Given the description of an element on the screen output the (x, y) to click on. 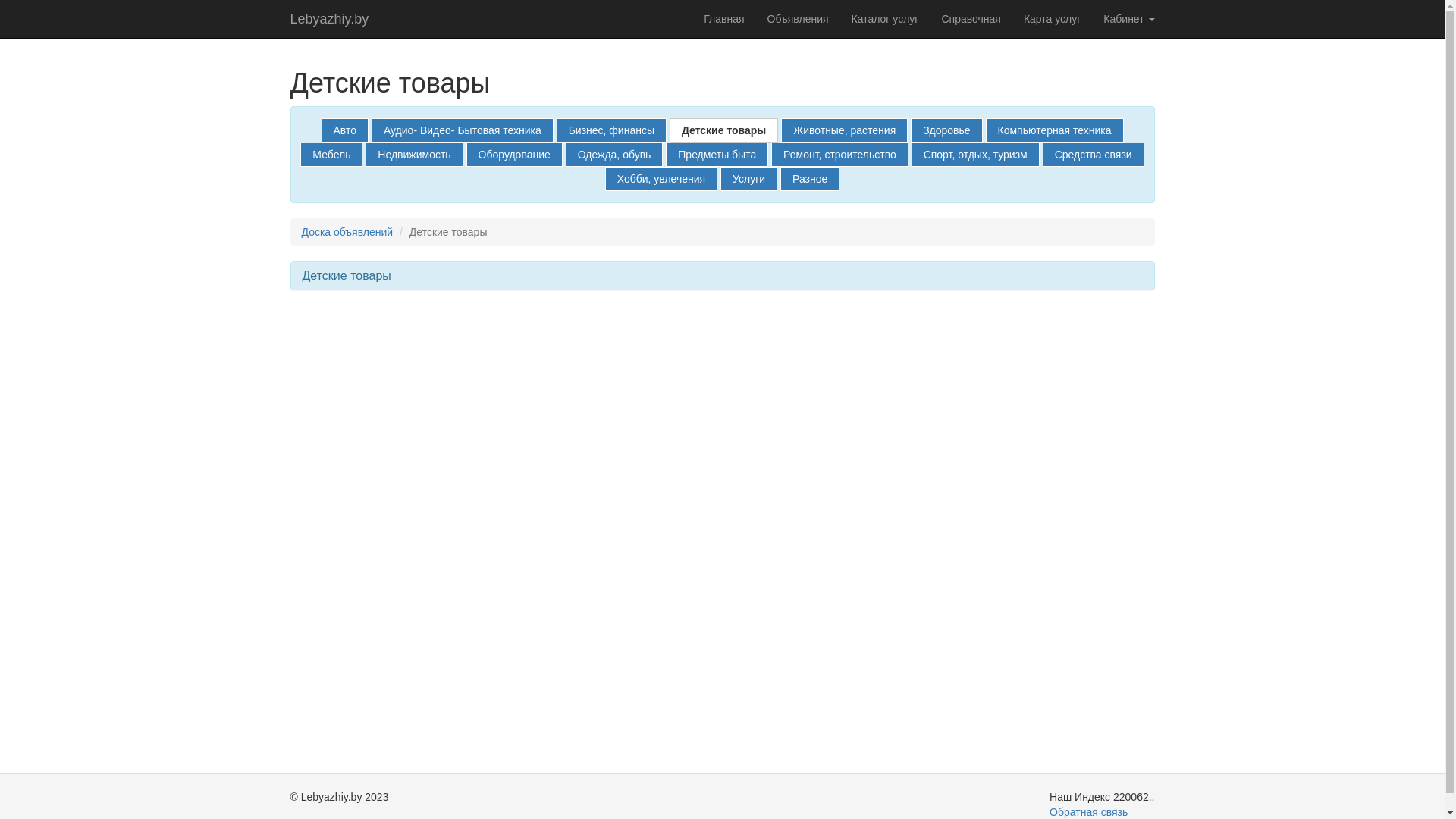
Lebyazhiy.by Element type: text (329, 18)
